Given the description of an element on the screen output the (x, y) to click on. 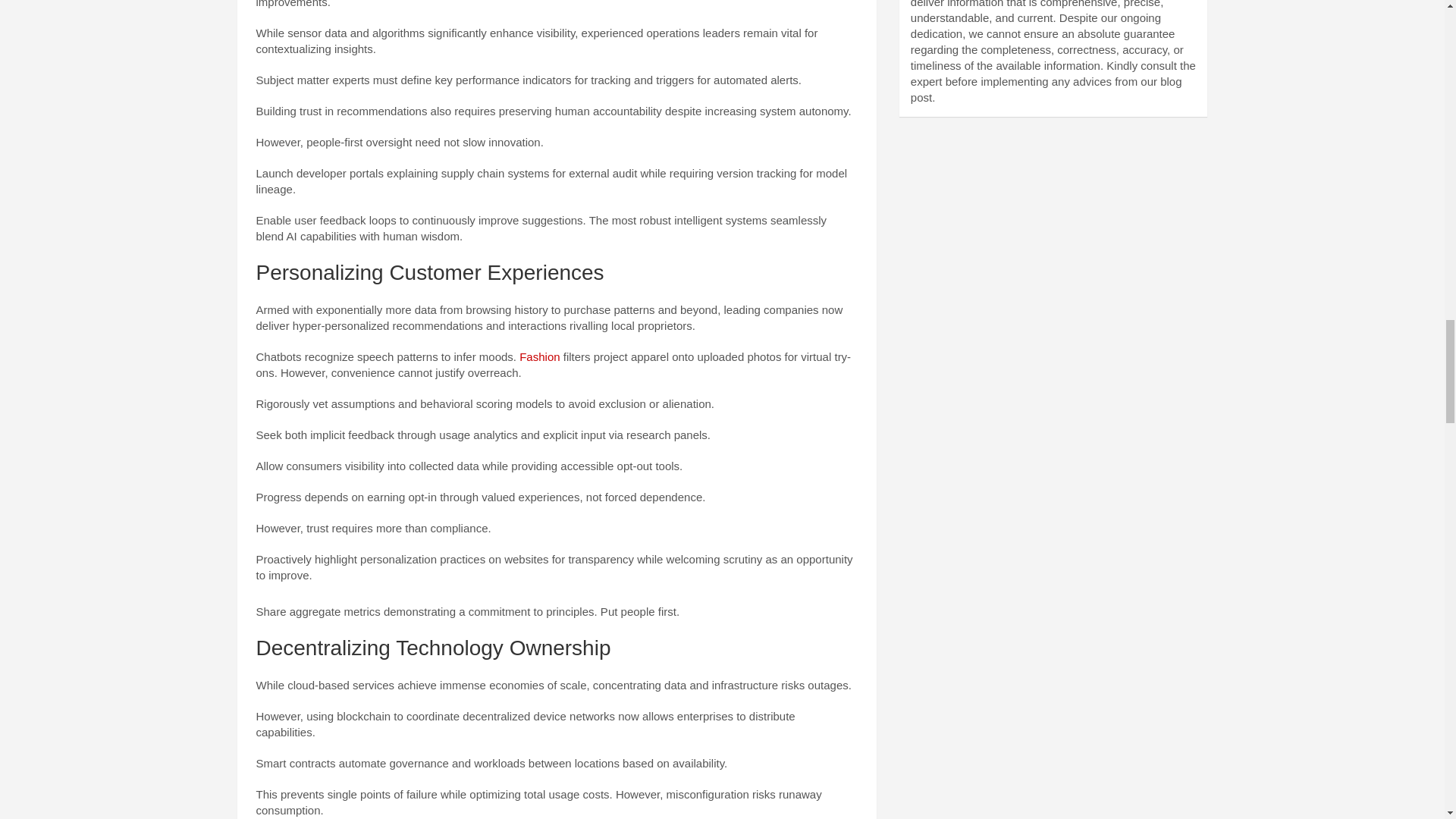
Fashion (539, 356)
